Given the description of an element on the screen output the (x, y) to click on. 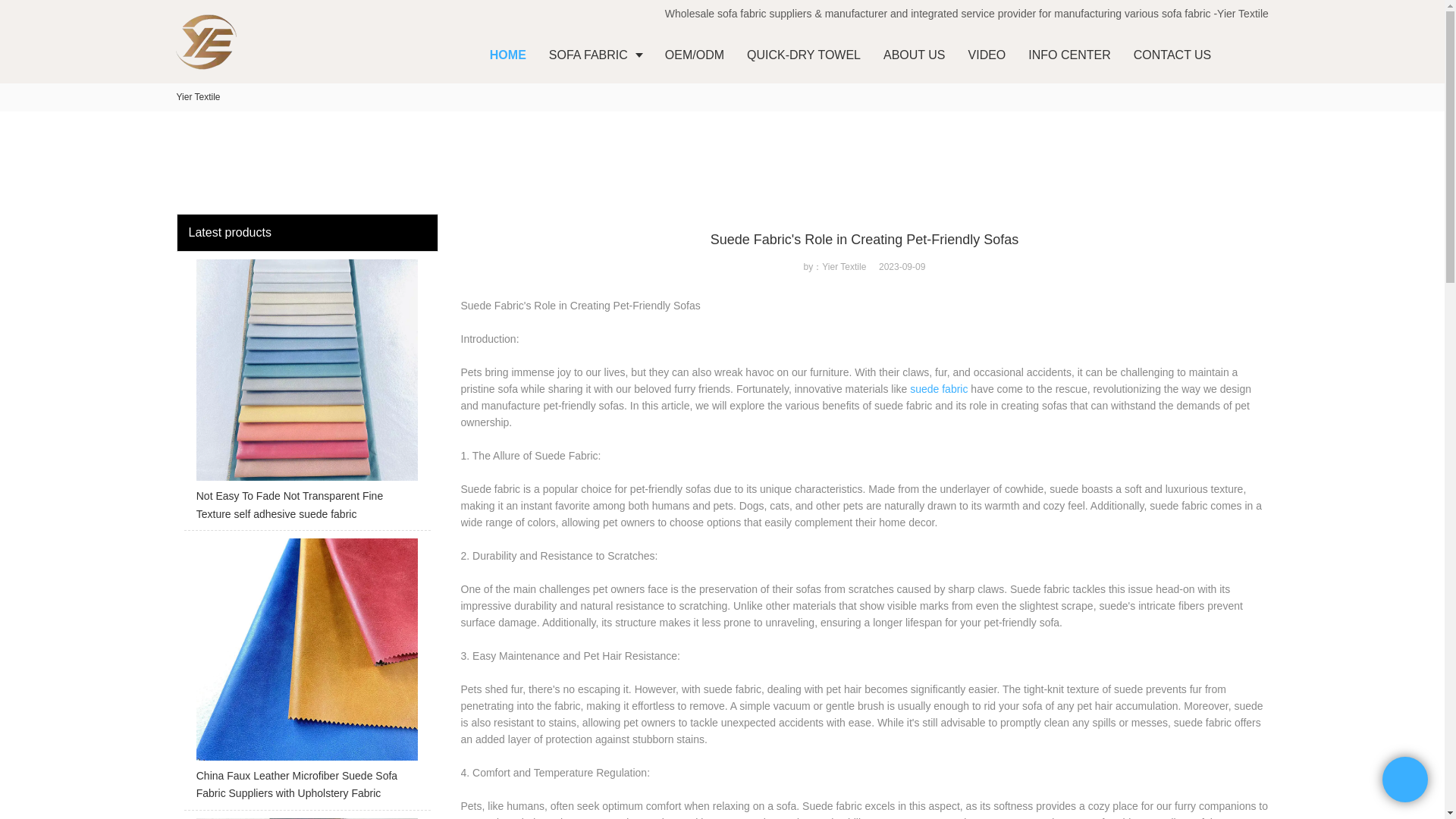
Yier Textile (197, 96)
VIDEO (986, 55)
INFO CENTER (1068, 55)
QUICK-DRY TOWEL (803, 55)
SOFA FABRIC (595, 55)
HOME (508, 55)
CONTACT US (1172, 55)
suede fabric (939, 388)
ABOUT US (914, 55)
